Given the description of an element on the screen output the (x, y) to click on. 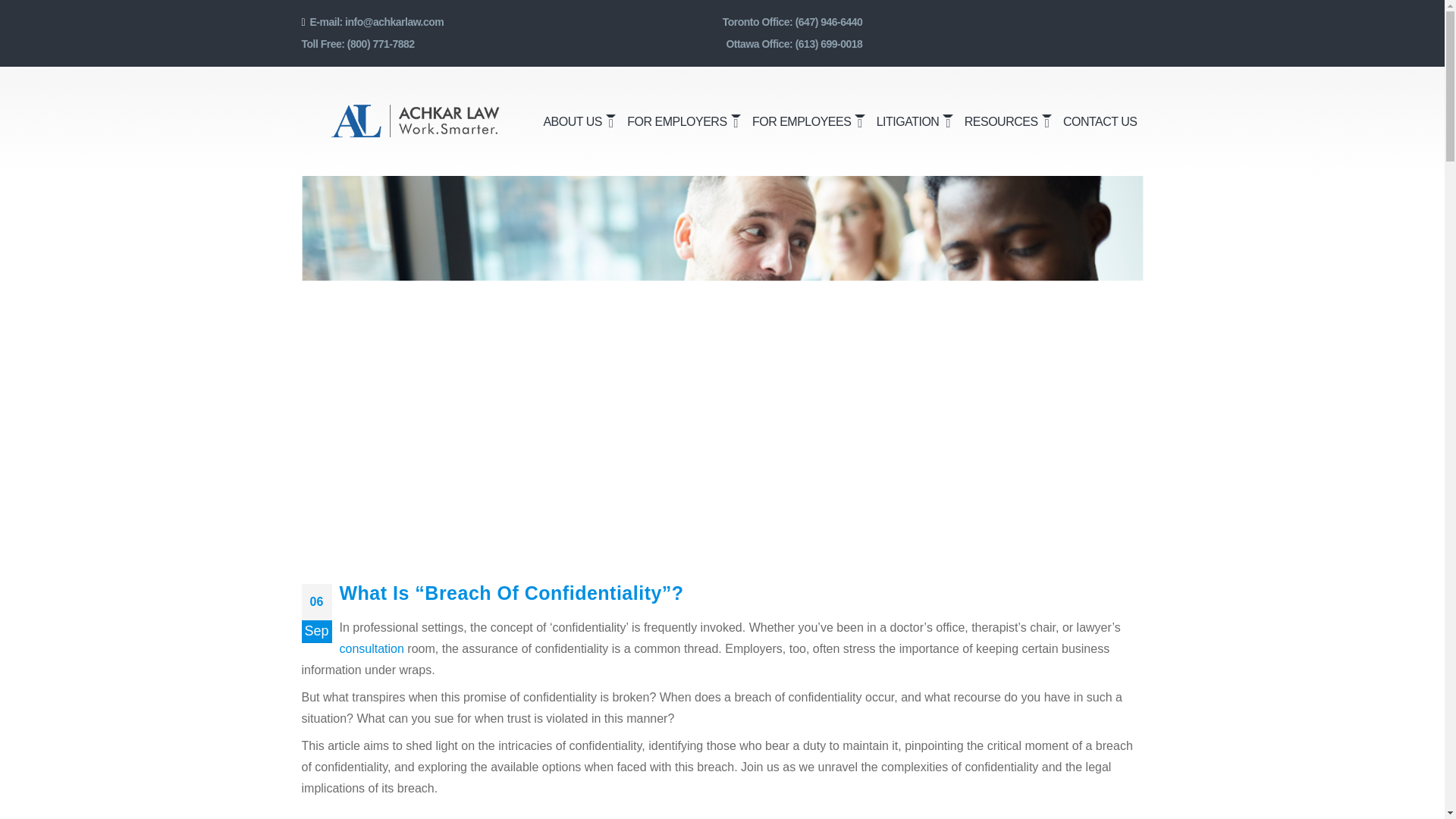
Achkar Law - Employment and Litigation Lawyers (415, 120)
ABOUT US (579, 121)
FOR EMPLOYERS (683, 121)
